Given the description of an element on the screen output the (x, y) to click on. 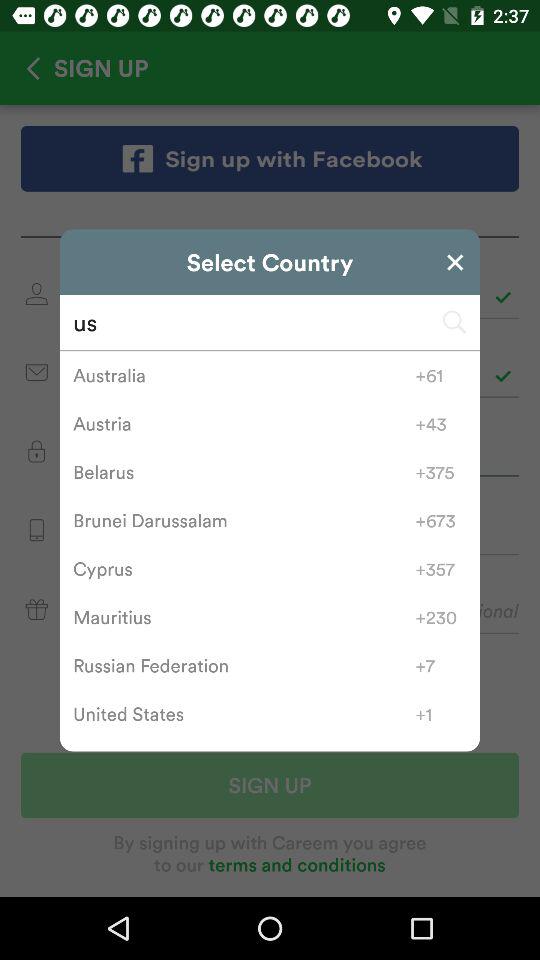
press the icon to the right of the mauritius (440, 617)
